Given the description of an element on the screen output the (x, y) to click on. 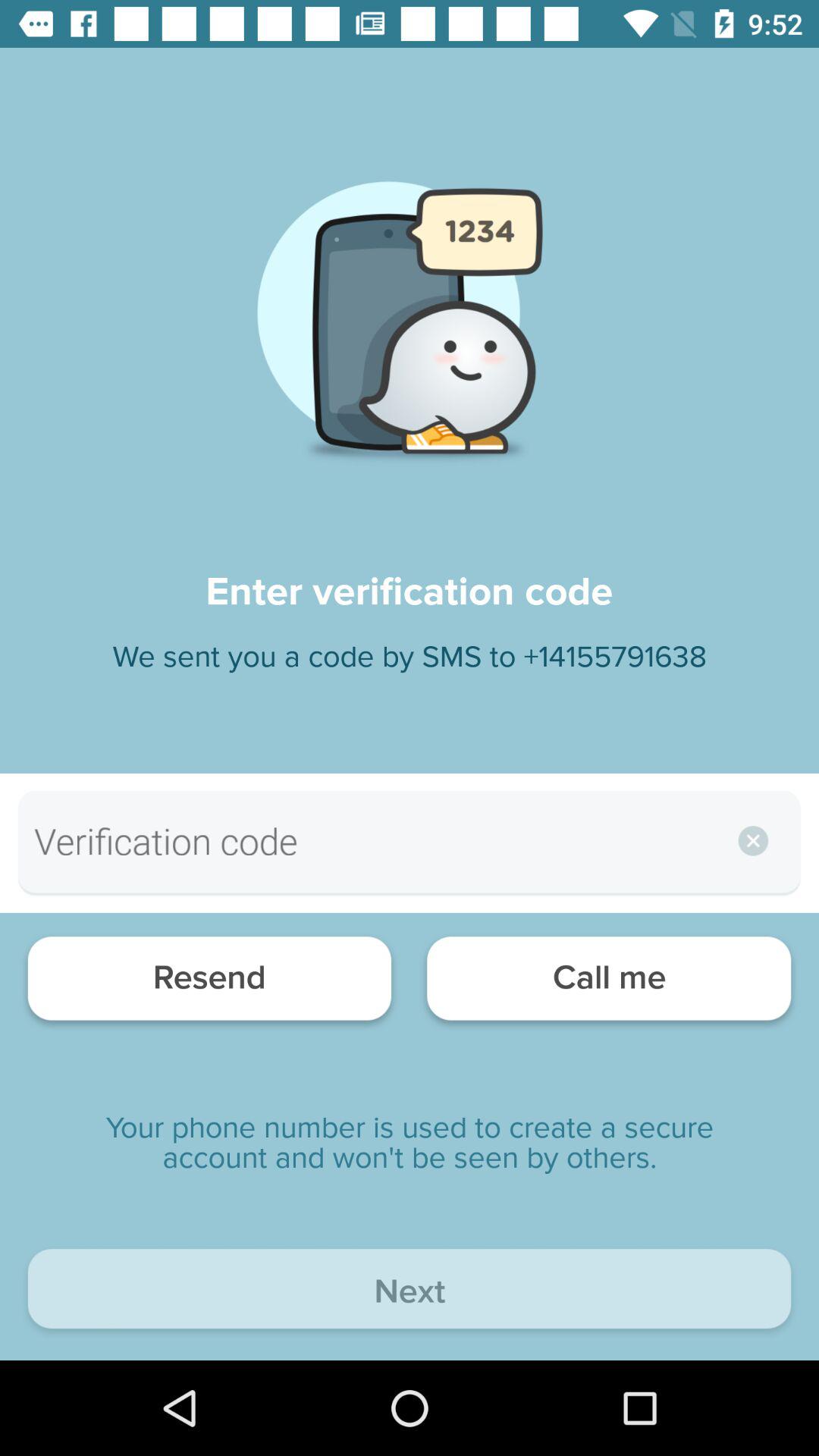
turn on the resend item (209, 982)
